Given the description of an element on the screen output the (x, y) to click on. 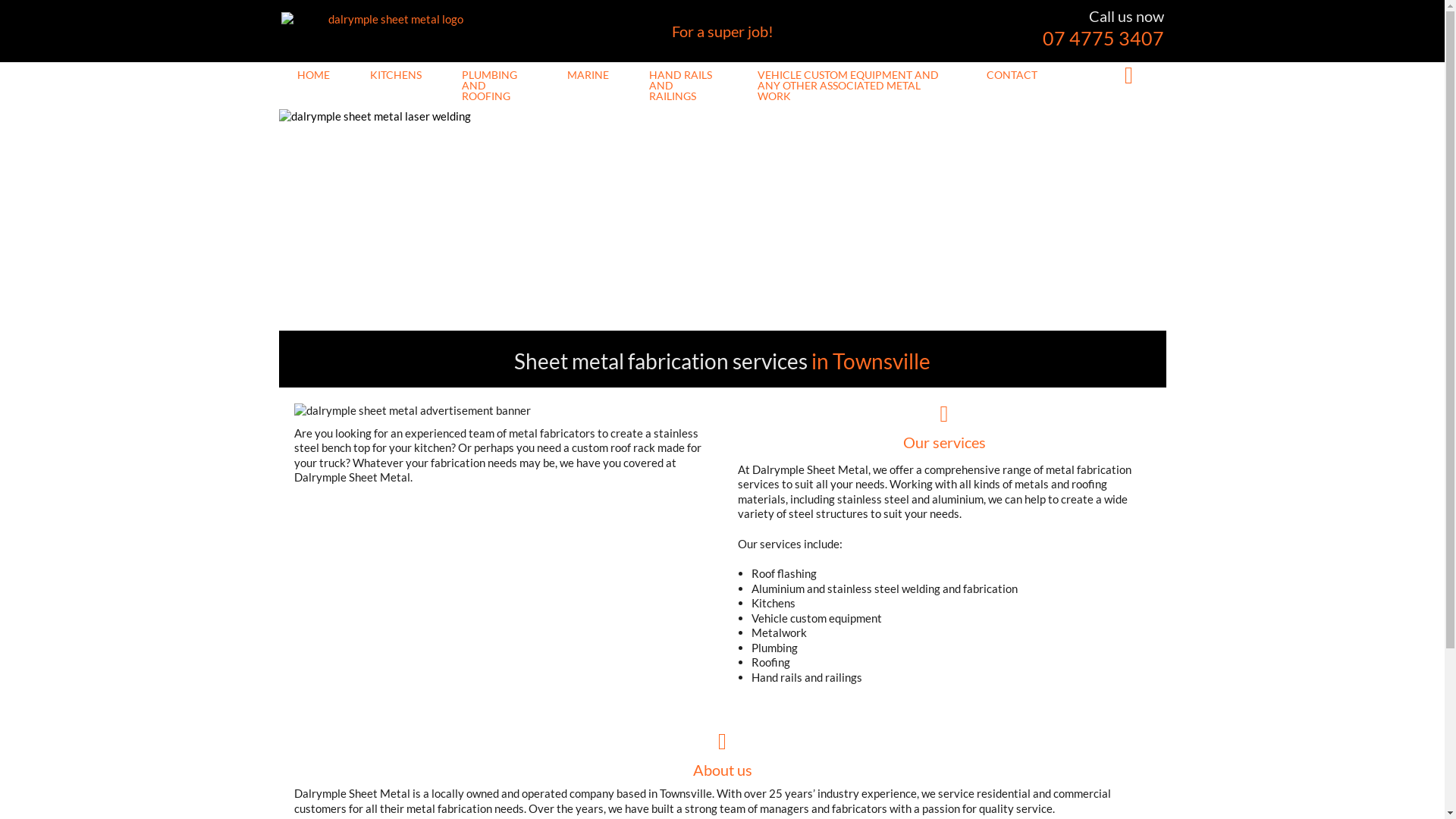
dalrymple sheet metal laser welding Element type: hover (722, 220)
KITCHENS Element type: text (395, 74)
MARINE Element type: text (587, 74)
dalrymple sheet metal advertisement banner Element type: hover (496, 410)
CONTACT Element type: text (1011, 74)
HAND RAILS AND RAILINGS Element type: text (683, 85)
HOME Element type: text (313, 74)
07 4775 3407 Element type: text (1102, 37)
PLUMBING AND ROOFING Element type: text (493, 85)
VEHICLE CUSTOM EQUIPMENT AND ANY OTHER ASSOCIATED METAL WORK Element type: text (851, 85)
dalrymple sheet metal logo Element type: hover (389, 19)
